Given the description of an element on the screen output the (x, y) to click on. 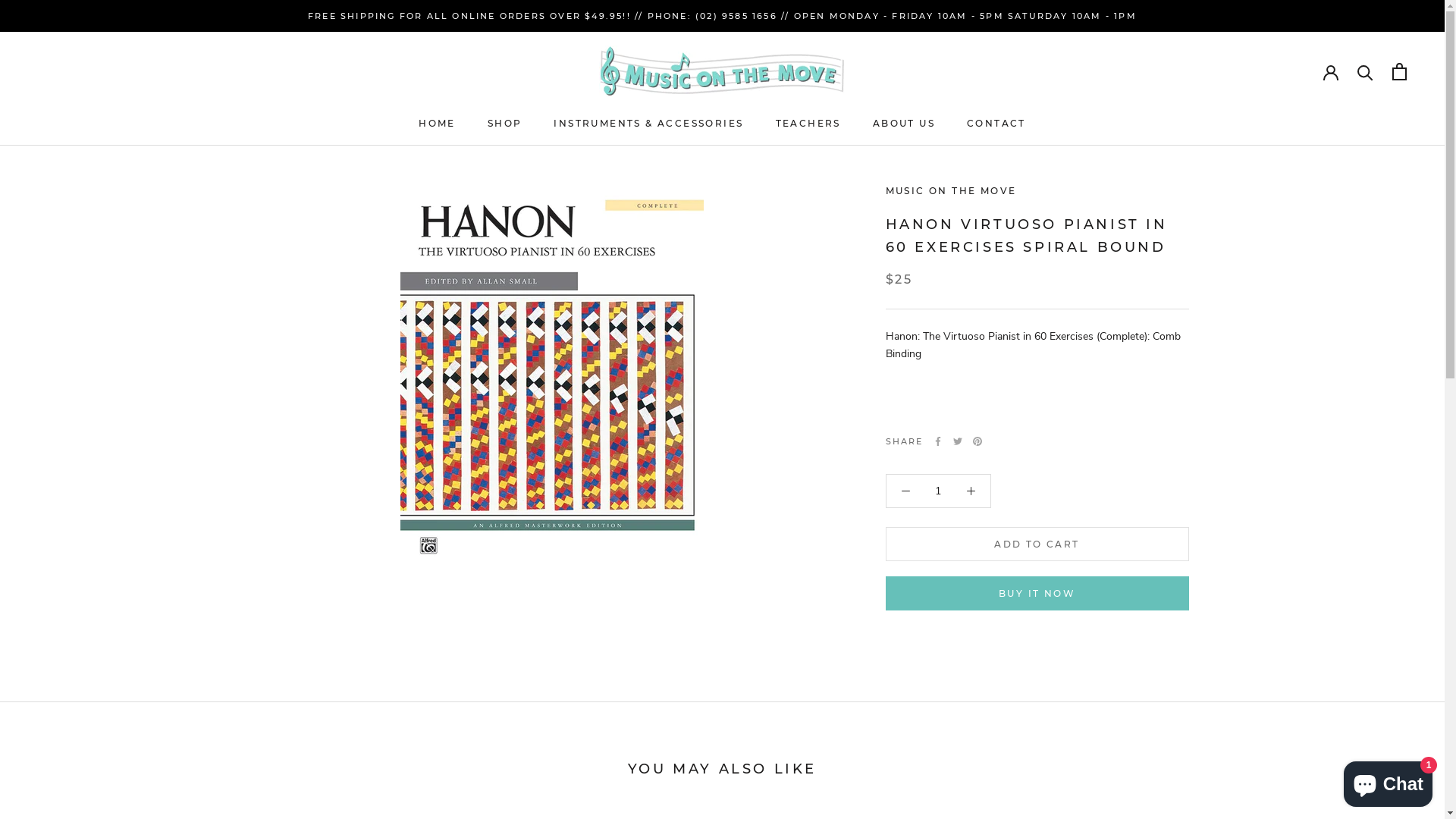
SHOP Element type: text (504, 122)
ABOUT US
ABOUT US Element type: text (903, 122)
ADD TO CART Element type: text (1037, 544)
Shopify online store chat Element type: hover (1388, 780)
INSTRUMENTS & ACCESSORIES
INSTRUMENTS & ACCESSORIES Element type: text (648, 122)
HOME
HOME Element type: text (436, 122)
CONTACT
CONTACT Element type: text (996, 122)
BUY IT NOW Element type: text (1037, 593)
TEACHERS Element type: text (807, 122)
